Given the description of an element on the screen output the (x, y) to click on. 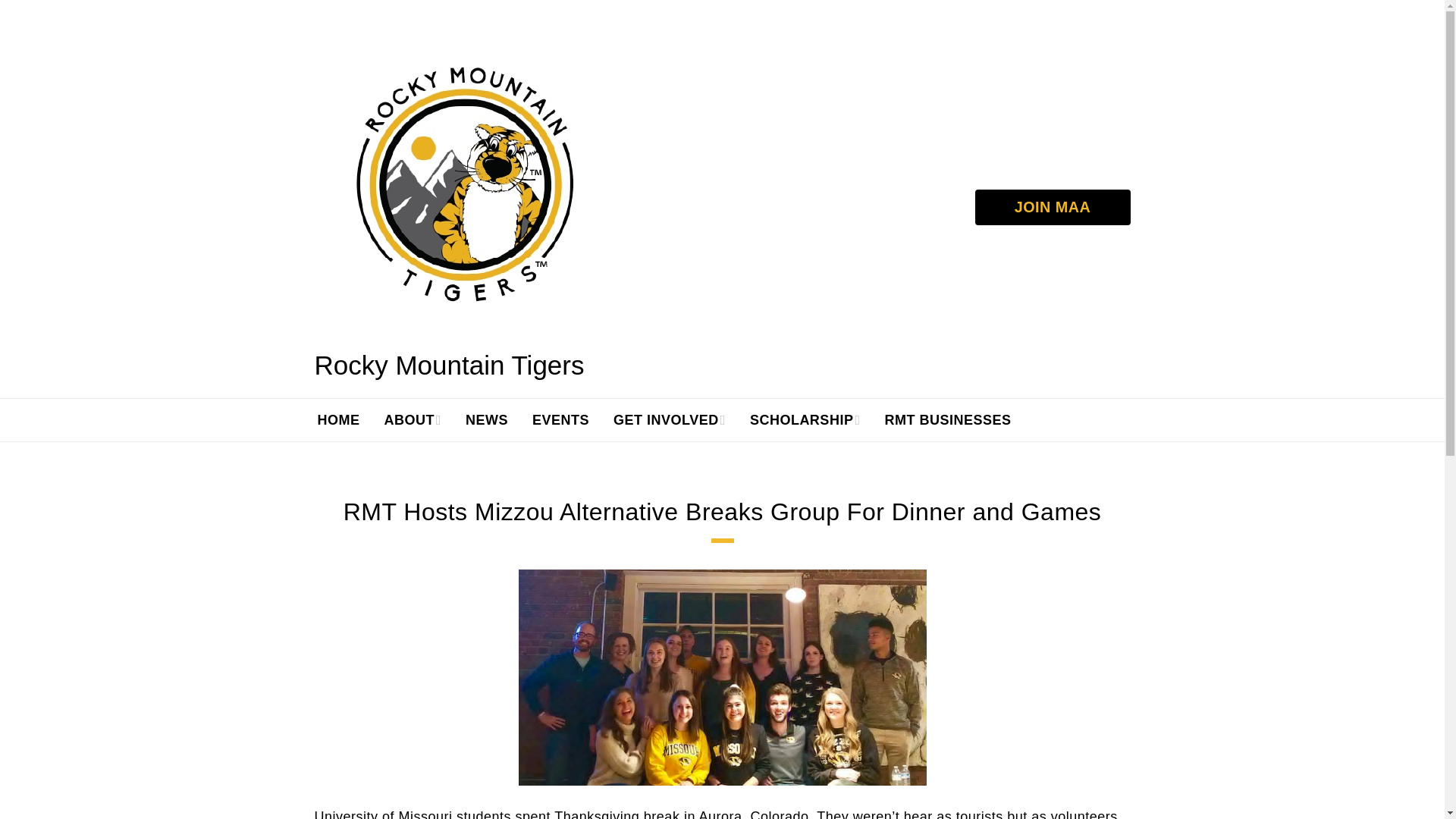
JOIN MAA (1053, 207)
Rocky Mountain Tigers (465, 181)
NEWS (485, 420)
ABOUT (411, 420)
RMT BUSINESSES (947, 420)
GET INVOLVED (669, 420)
HOME (337, 420)
EVENTS (560, 420)
SCHOLARSHIP (805, 420)
